Given the description of an element on the screen output the (x, y) to click on. 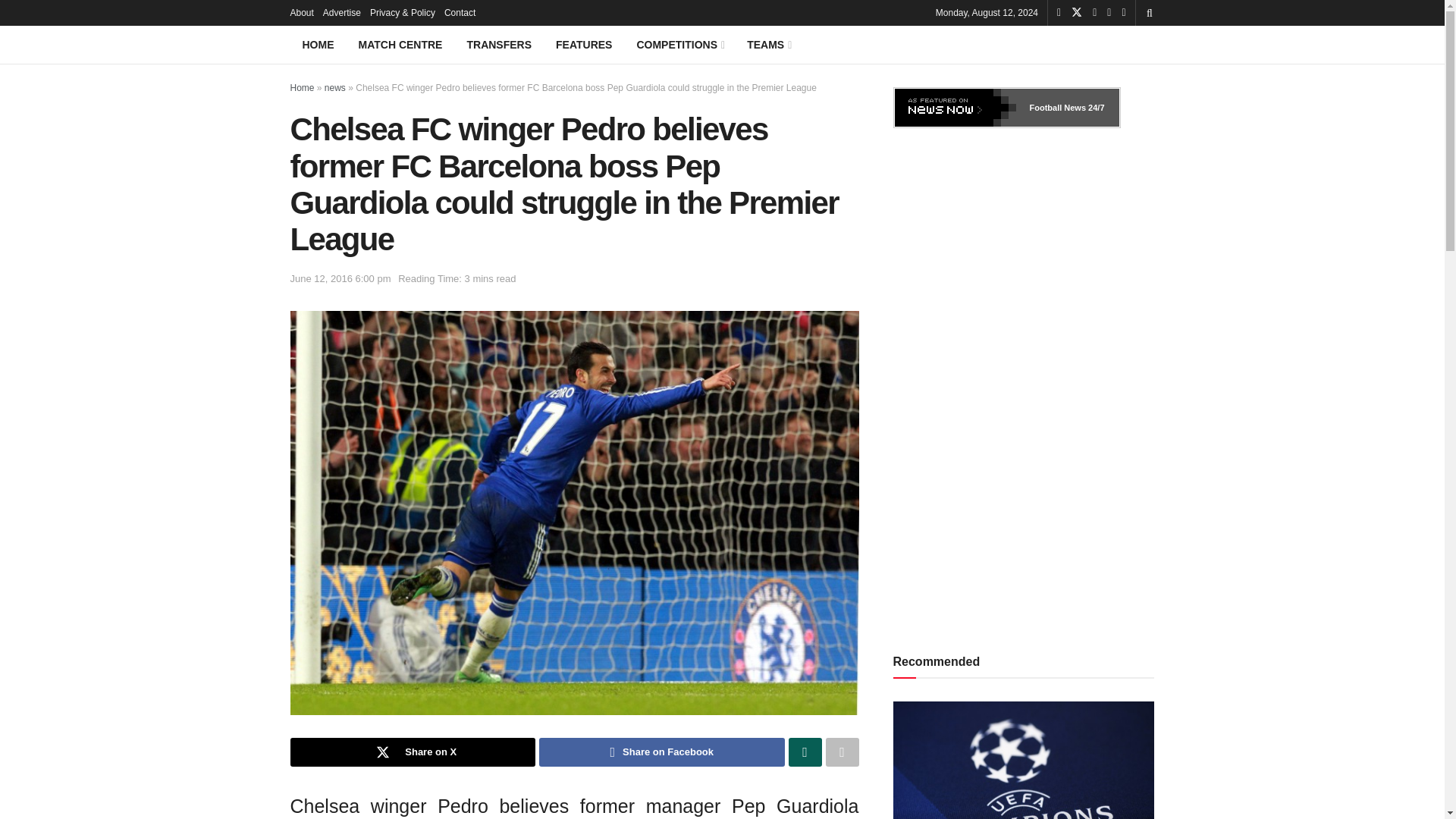
Contact (460, 12)
FEATURES (583, 44)
Advertise (342, 12)
Click here for more Football news from NewsNow (955, 107)
TEAMS (768, 44)
TRANSFERS (498, 44)
About (301, 12)
MATCH CENTRE (400, 44)
HOME (317, 44)
Click here for more Football news from NewsNow (1057, 107)
